Given the description of an element on the screen output the (x, y) to click on. 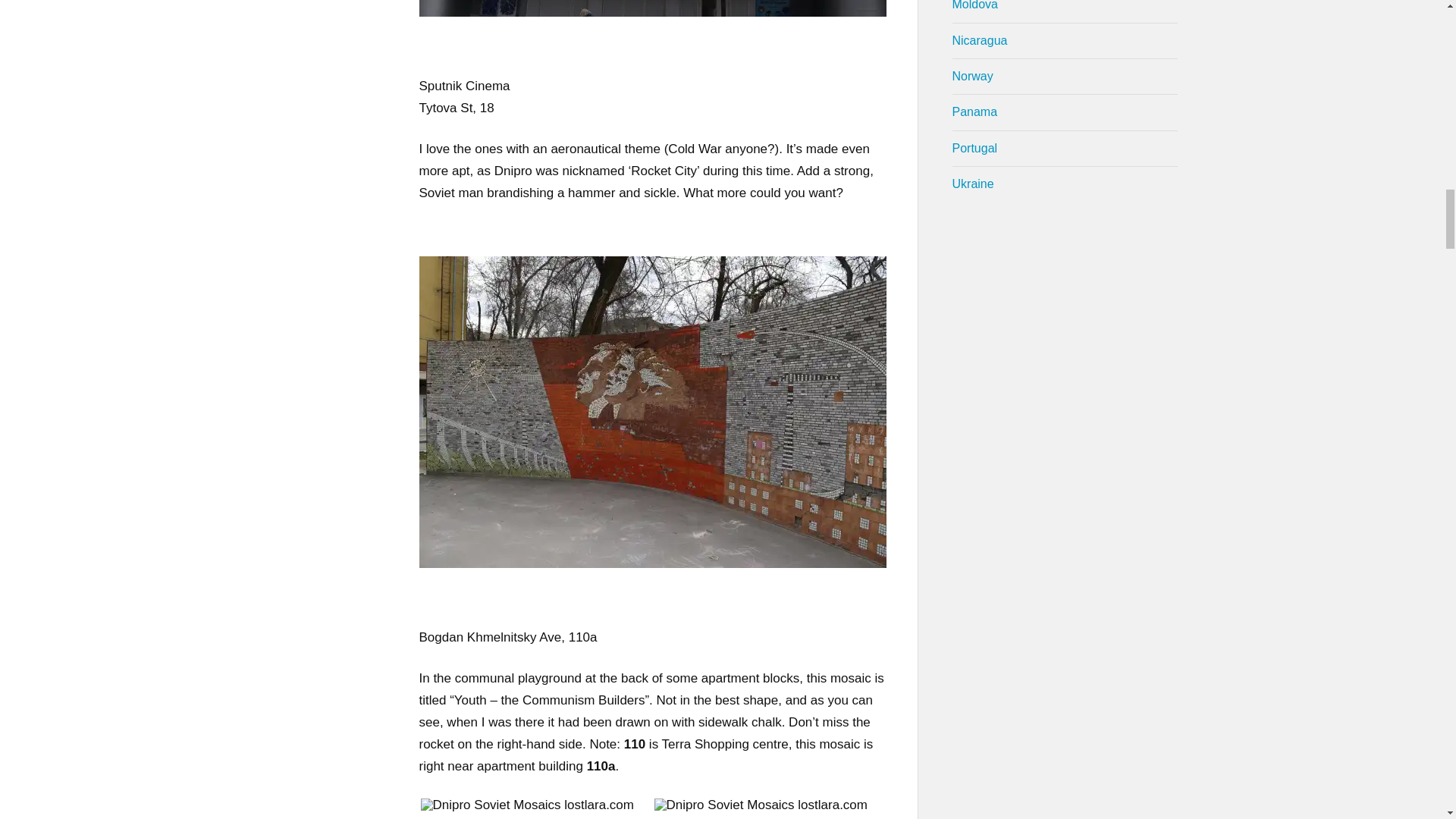
Dnipro Soviet Mosaics lostlara.com (526, 804)
Dnipro Soviet Mosaics lostlara.com (759, 804)
